Given the description of an element on the screen output the (x, y) to click on. 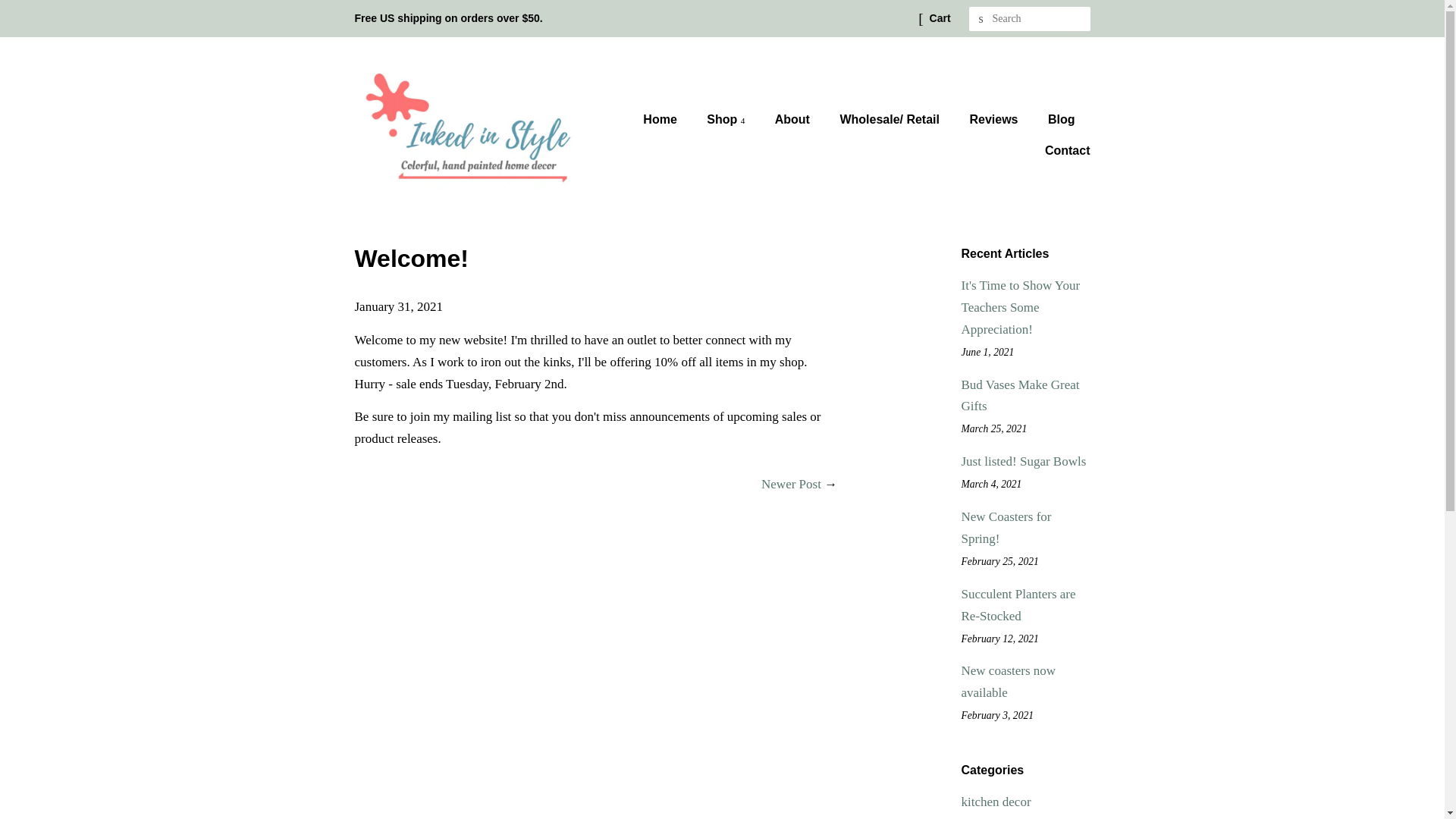
Home (667, 119)
kitchen decor (995, 801)
Search (980, 18)
Shop (727, 119)
Blog (1063, 119)
It's Time to Show Your Teachers Some Appreciation! (1020, 307)
Just listed! Sugar Bowls (1023, 461)
Newer Post (791, 483)
Reviews (995, 119)
Succulent Planters are Re-Stocked (1017, 605)
Bud Vases Make Great Gifts (1020, 395)
New coasters now available (1008, 681)
Contact (1061, 150)
About (793, 119)
Show articles tagged kitchen decor (995, 801)
